Given the description of an element on the screen output the (x, y) to click on. 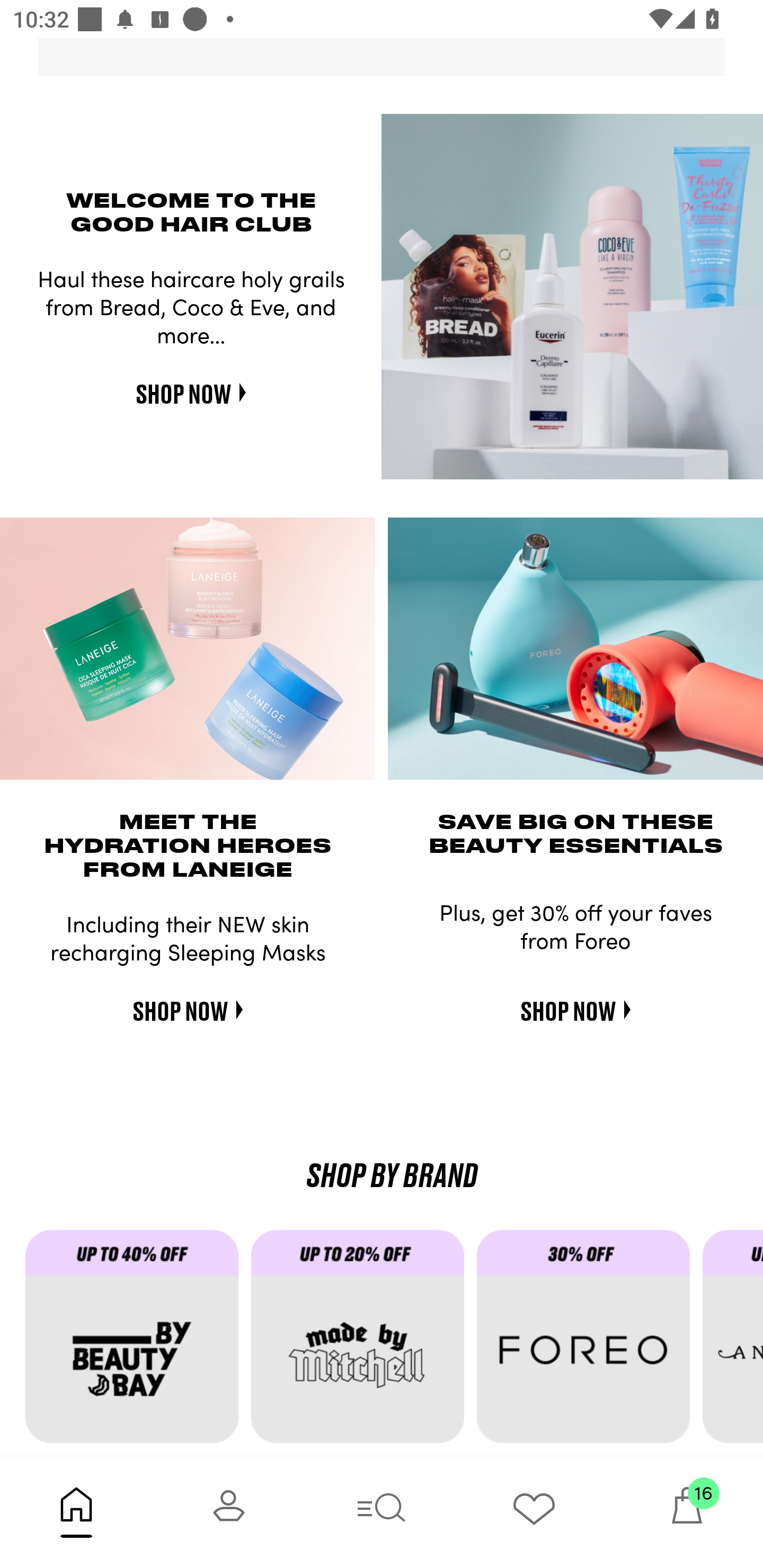
BY BEAUTY BAY (138, 1342)
MADE BY MITCHELL (363, 1342)
FOREO (589, 1342)
16 (686, 1512)
